Given the description of an element on the screen output the (x, y) to click on. 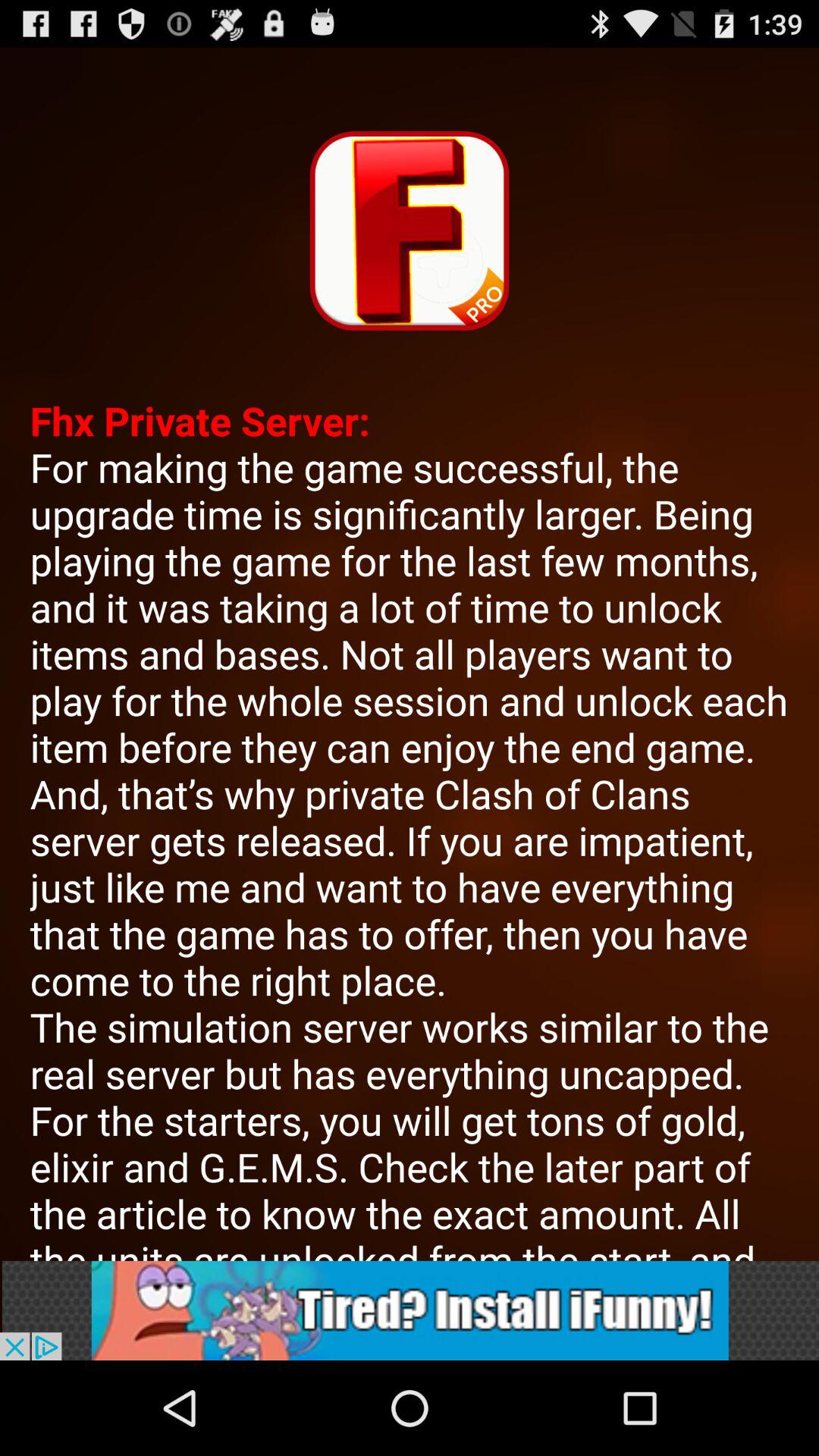
advertisement (409, 1310)
